Given the description of an element on the screen output the (x, y) to click on. 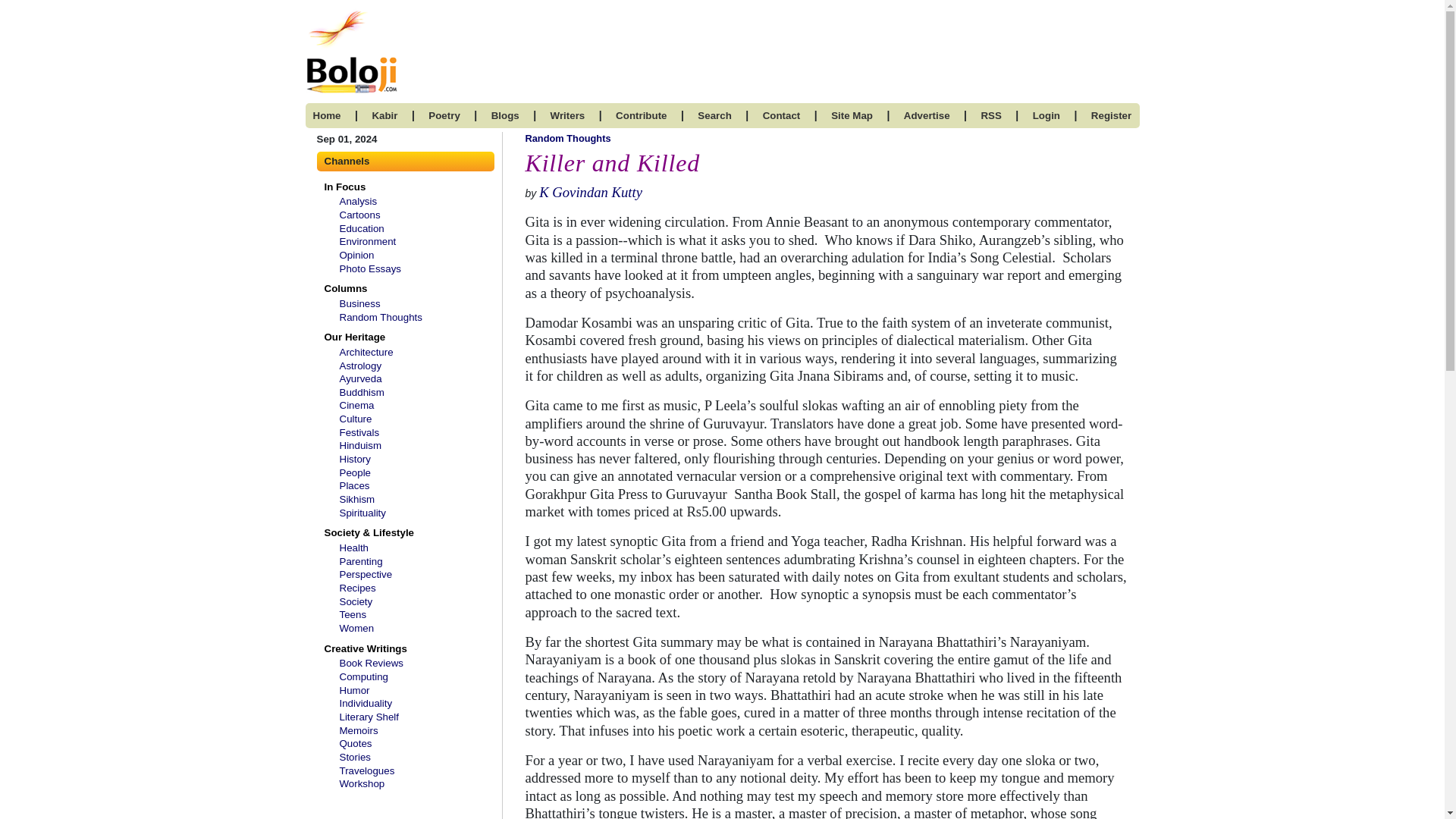
Hinduism (360, 445)
Columns (342, 288)
Analysis (358, 201)
Contact (781, 115)
Contribute (640, 115)
Buddhism (361, 392)
Blogs (505, 115)
Ayurveda (360, 378)
Education (361, 228)
RSS (990, 115)
